Given the description of an element on the screen output the (x, y) to click on. 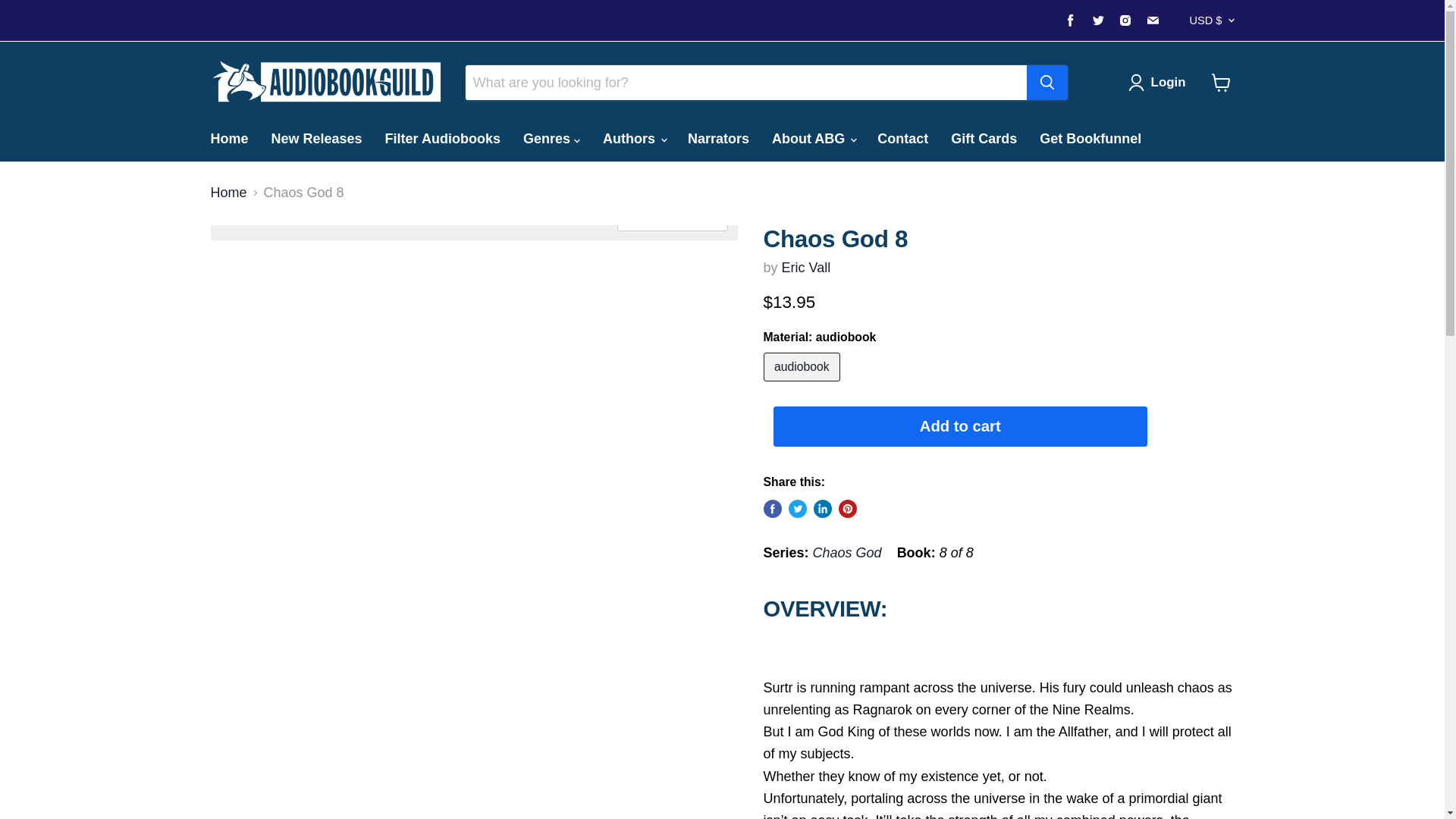
Find us on Facebook (1070, 20)
Twitter (1097, 20)
New Releases (317, 138)
Find us on Twitter (1097, 20)
View cart (1221, 82)
Eric Vall (806, 267)
Instagram (1125, 20)
Home (228, 138)
Find us on Email (1152, 20)
Find us on Instagram (1125, 20)
